Given the description of an element on the screen output the (x, y) to click on. 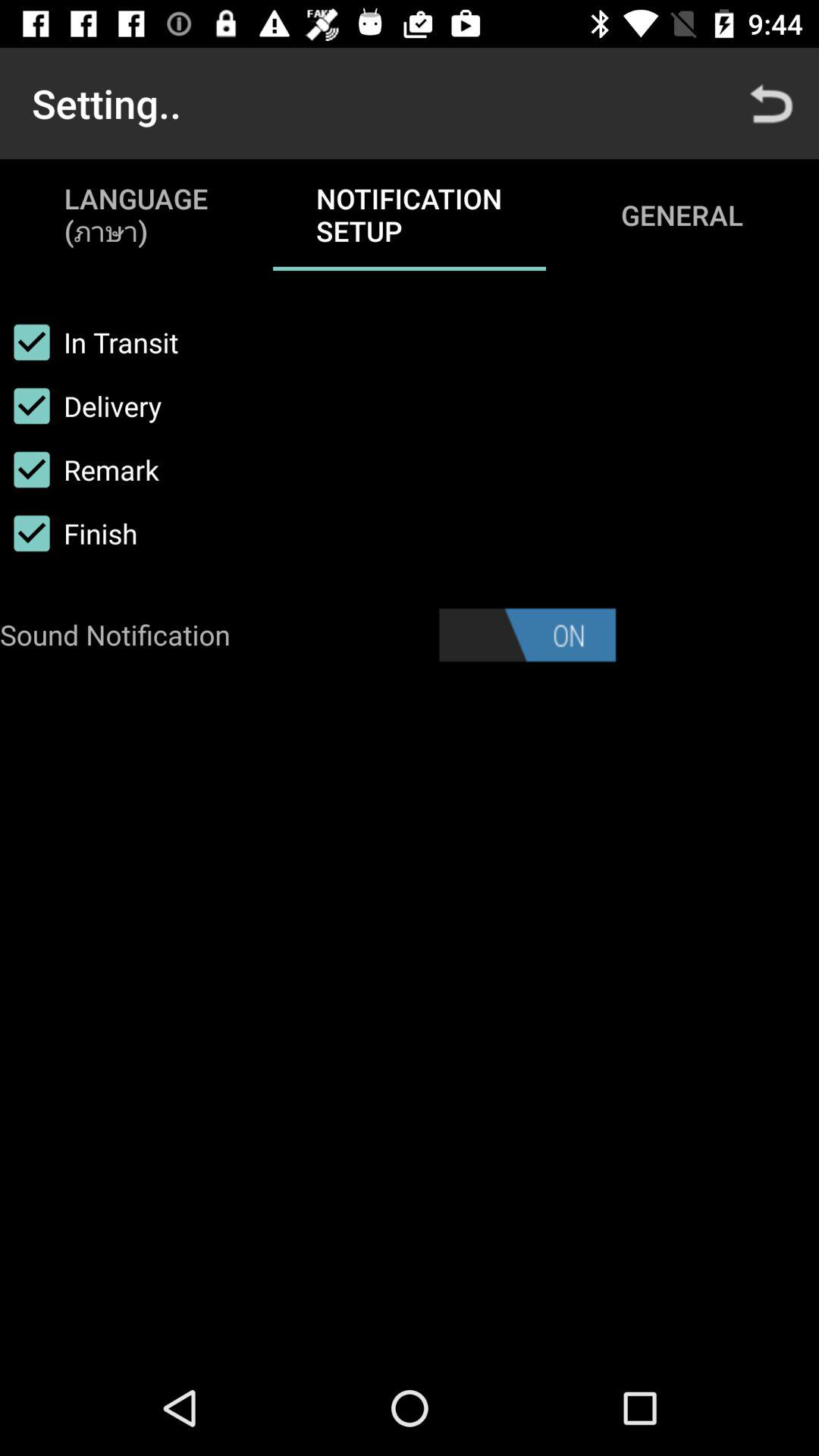
click the item below in transit checkbox (80, 405)
